Given the description of an element on the screen output the (x, y) to click on. 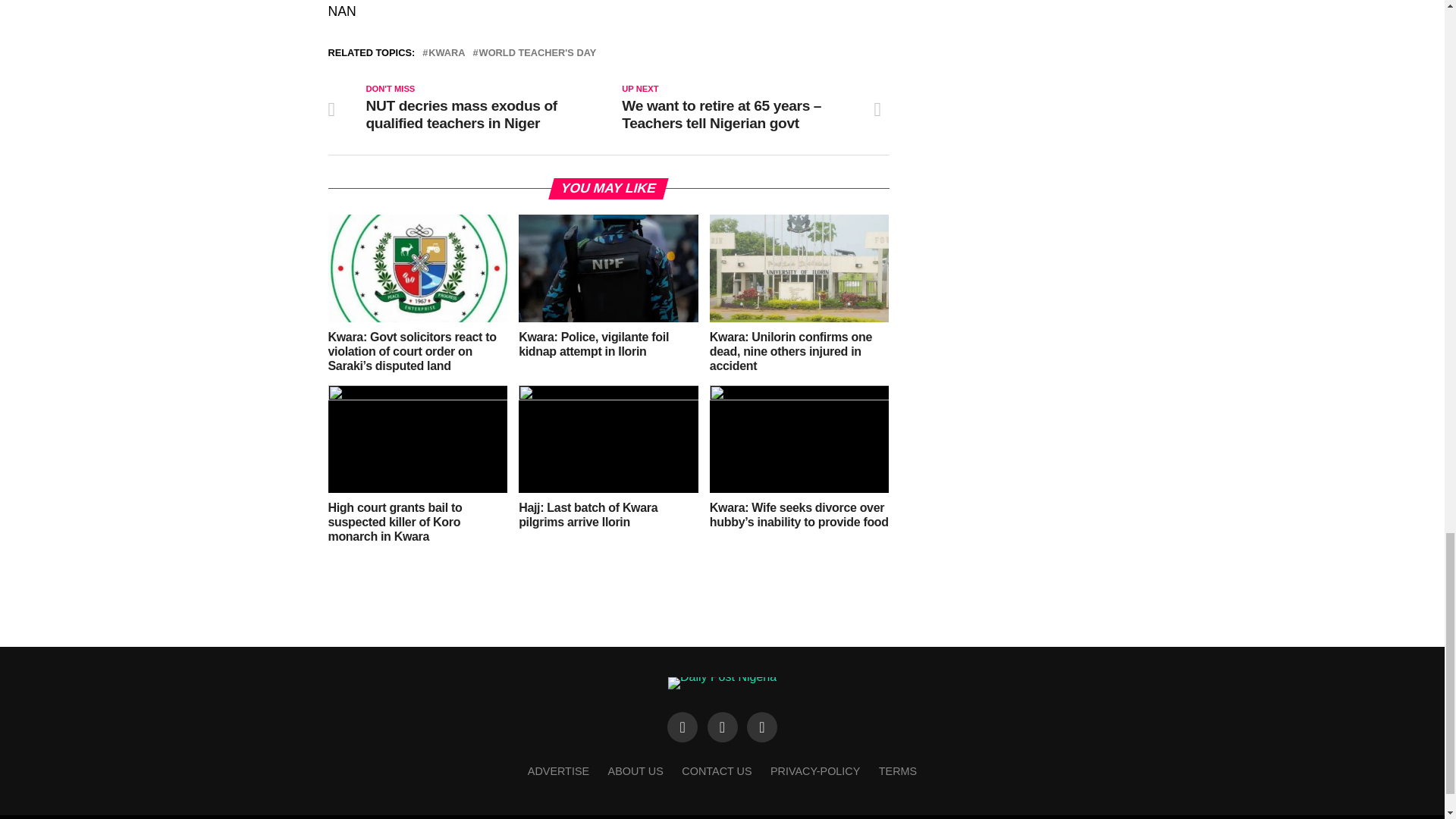
ADVERTISE (558, 770)
KWARA (446, 53)
WORLD TEACHER'S DAY (537, 53)
